Given the description of an element on the screen output the (x, y) to click on. 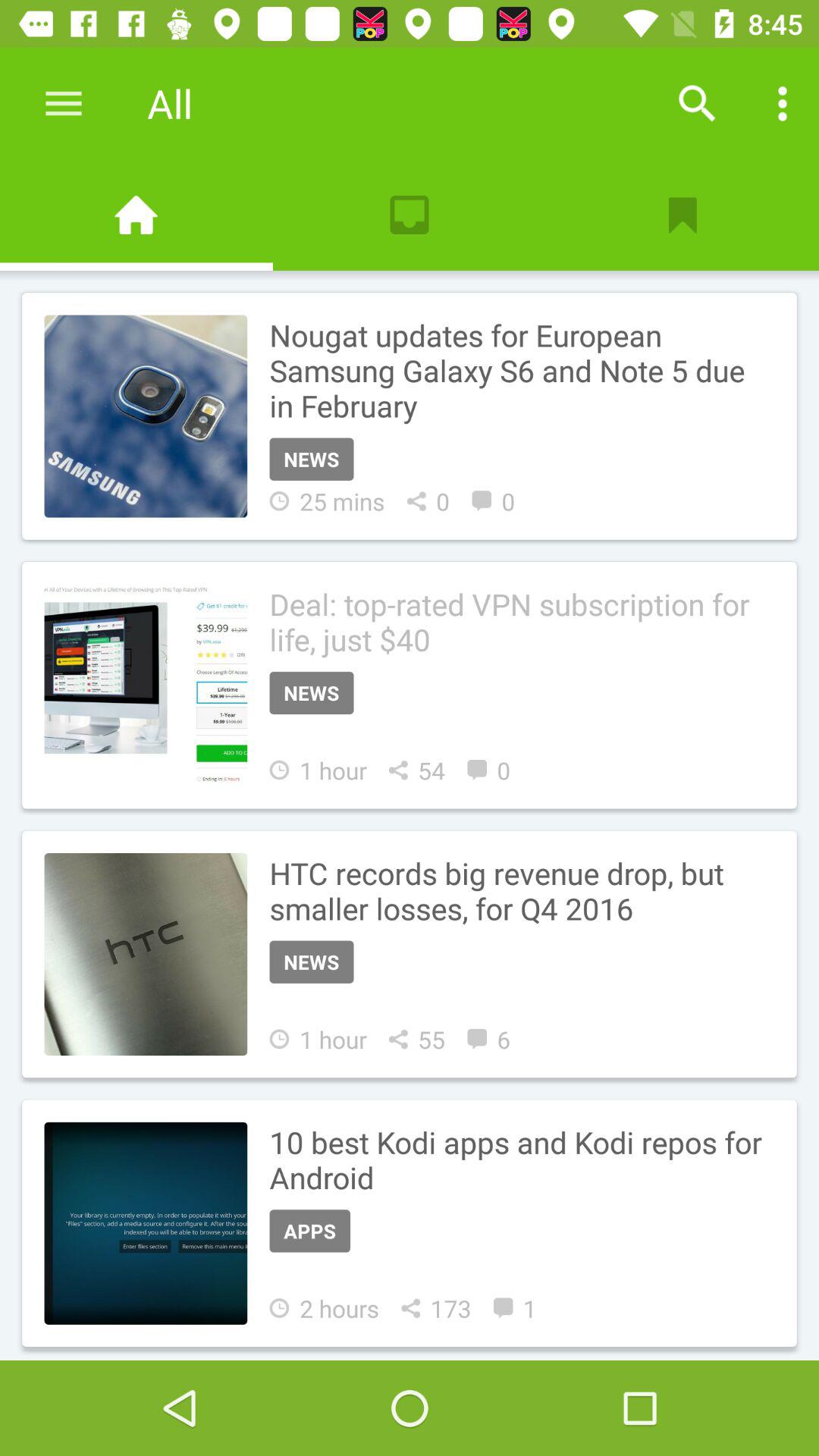
search button (697, 103)
